Given the description of an element on the screen output the (x, y) to click on. 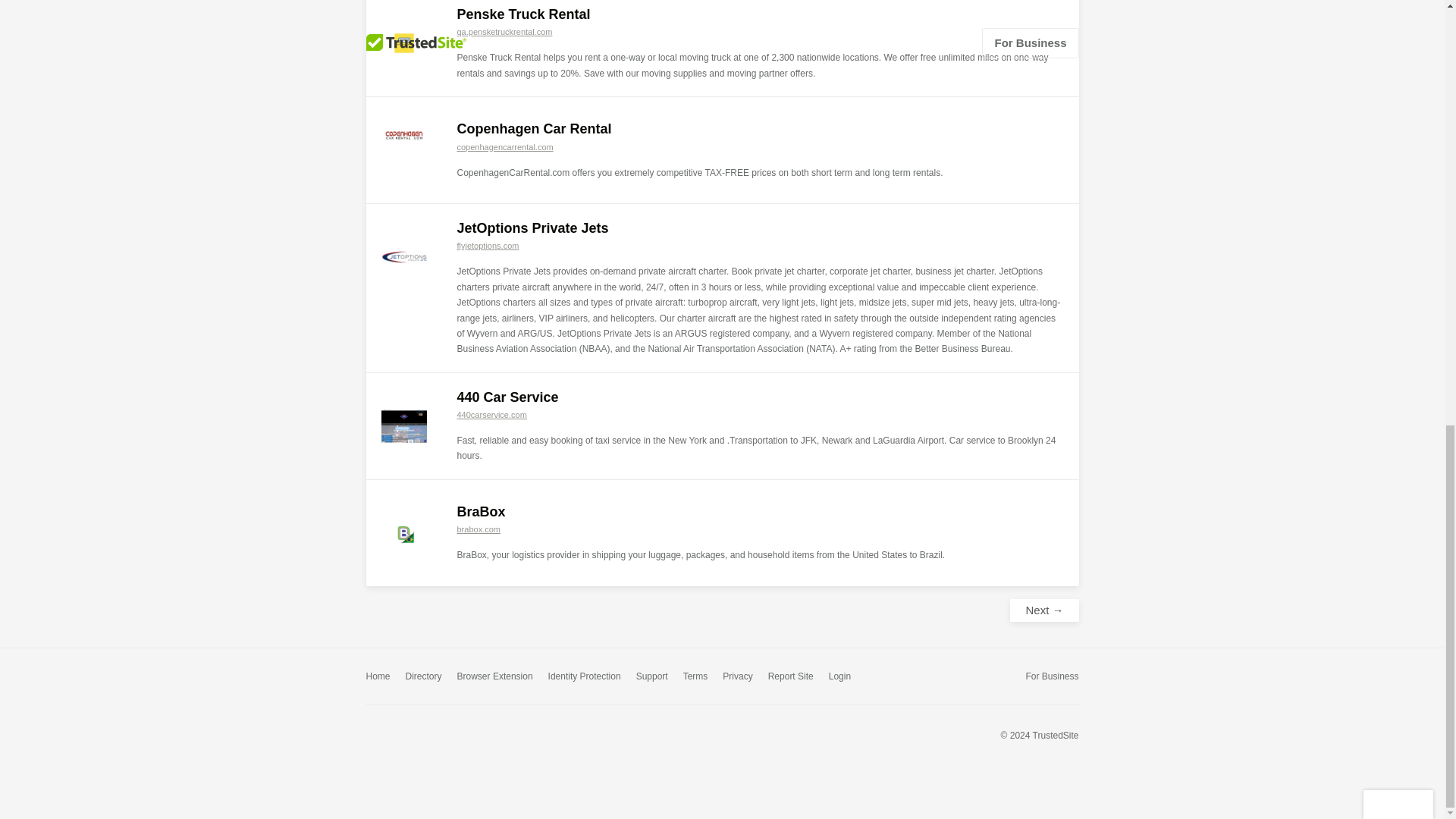
flyjetoptions.com (487, 245)
Penske Truck Rental (523, 14)
440carservice.com (491, 414)
Support (652, 676)
Identity Protection (584, 676)
BraBox (481, 511)
qa.pensketruckrental.com (504, 31)
JetOptions Private Jets (532, 227)
TrustedSite Certified (399, 734)
Copenhagen Car Rental (534, 128)
